Given the description of an element on the screen output the (x, y) to click on. 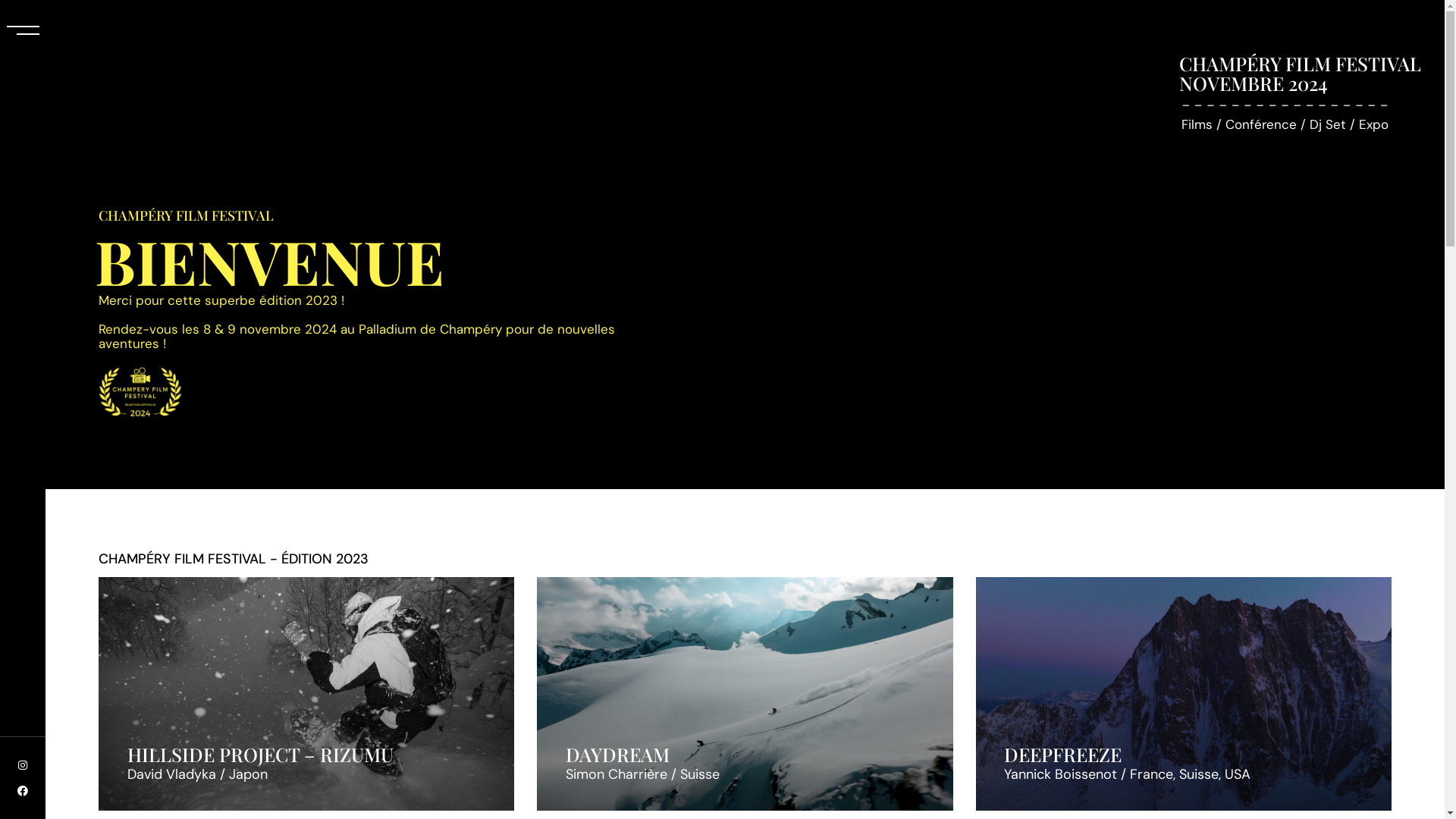
Suisse Element type: text (1198, 774)
Yannick Boissenot Element type: text (1060, 774)
Japon Element type: text (248, 774)
David Vladyka Element type: text (171, 774)
Suisse Element type: text (699, 774)
DEEPFREEZE Element type: text (1062, 753)
DAYDREAM Element type: text (617, 753)
France Element type: text (1151, 774)
USA Element type: text (1237, 774)
